Given the description of an element on the screen output the (x, y) to click on. 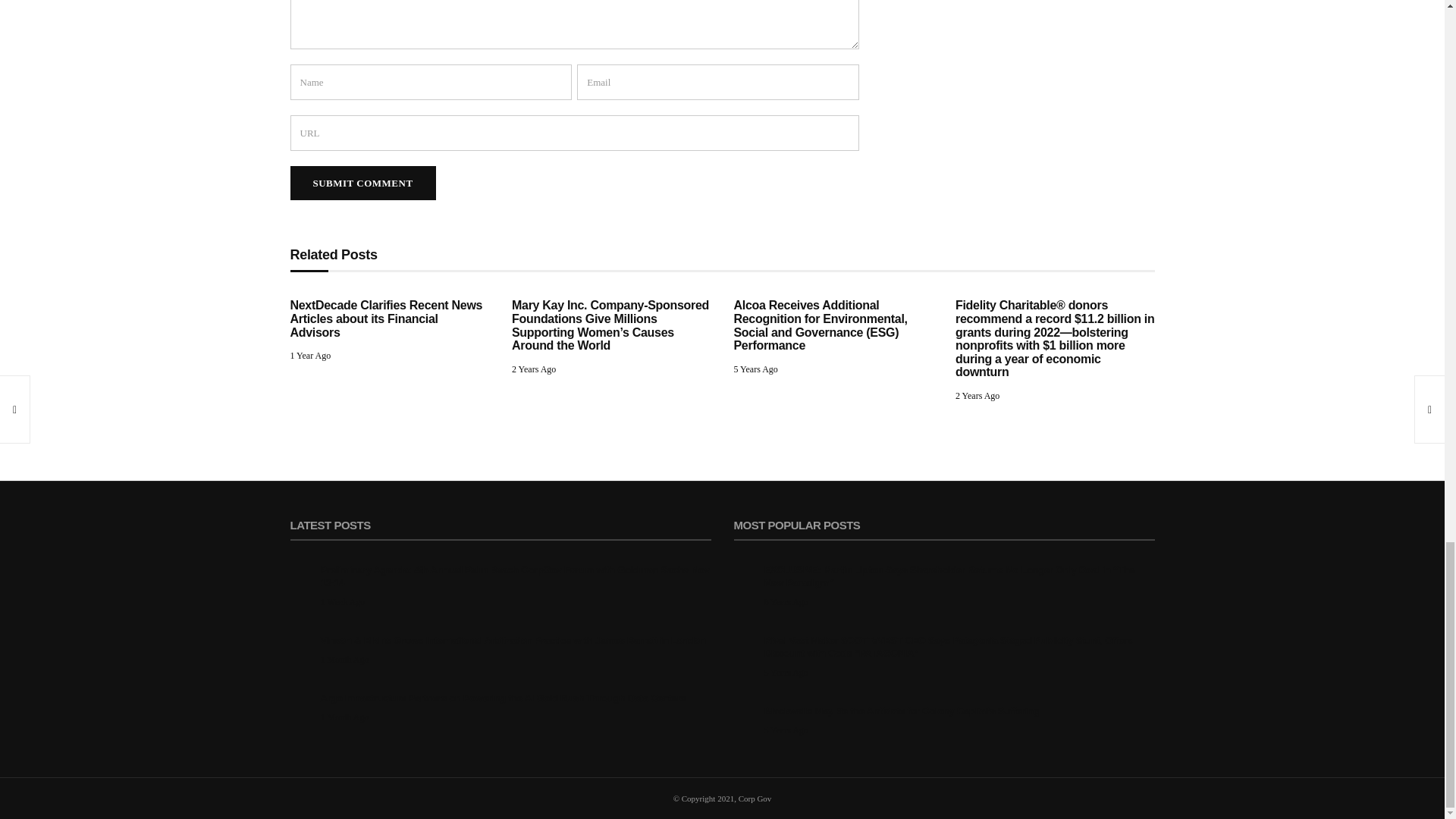
Submit Comment (362, 182)
